Given the description of an element on the screen output the (x, y) to click on. 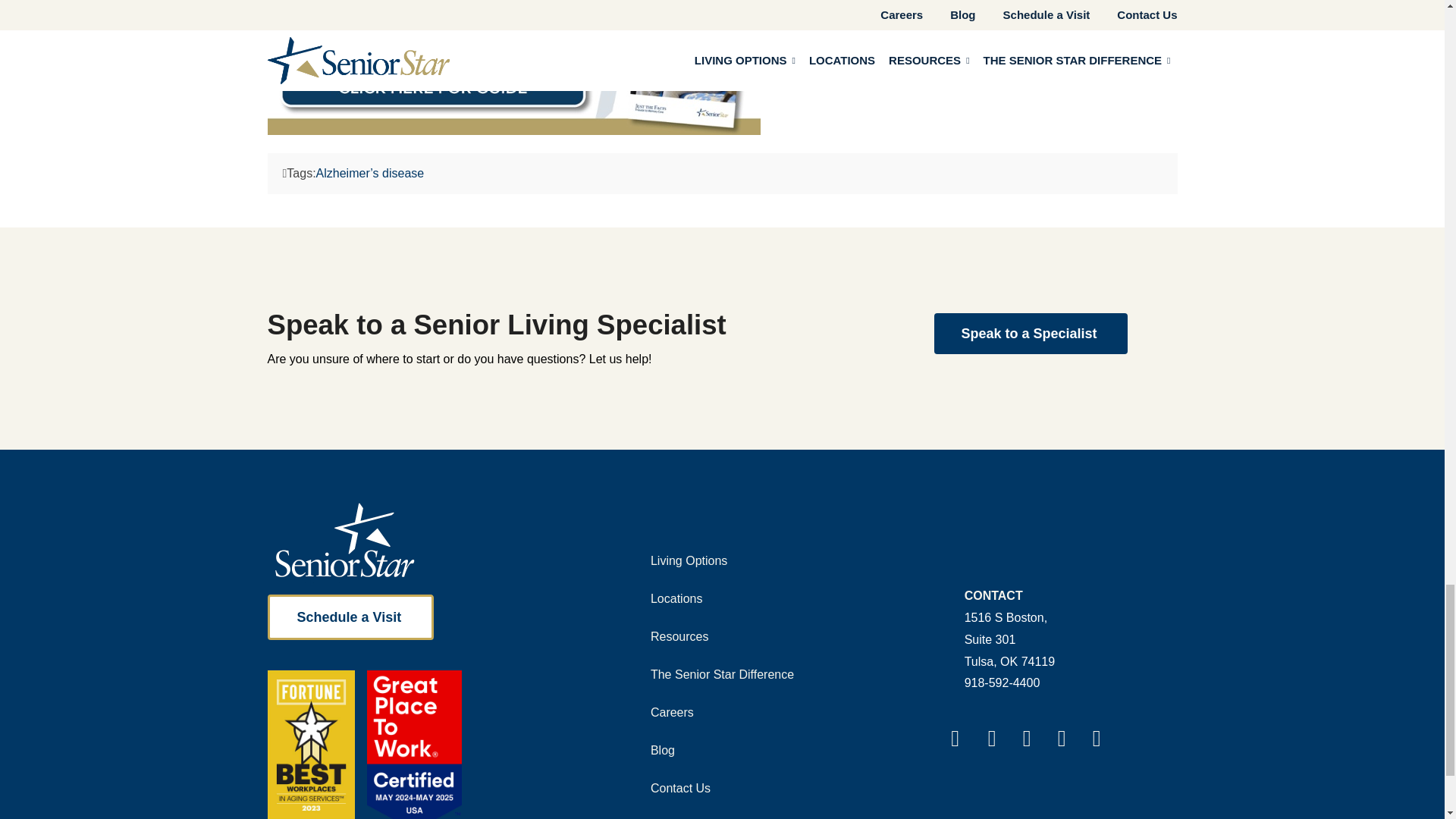
Blog (662, 750)
Speak to a Specialist (1030, 332)
Resources (1004, 628)
Careers (678, 637)
Schedule a Visit (671, 712)
Contact Us (349, 616)
Living Options (680, 788)
Locations (688, 560)
The Senior Star Difference (676, 598)
